Given the description of an element on the screen output the (x, y) to click on. 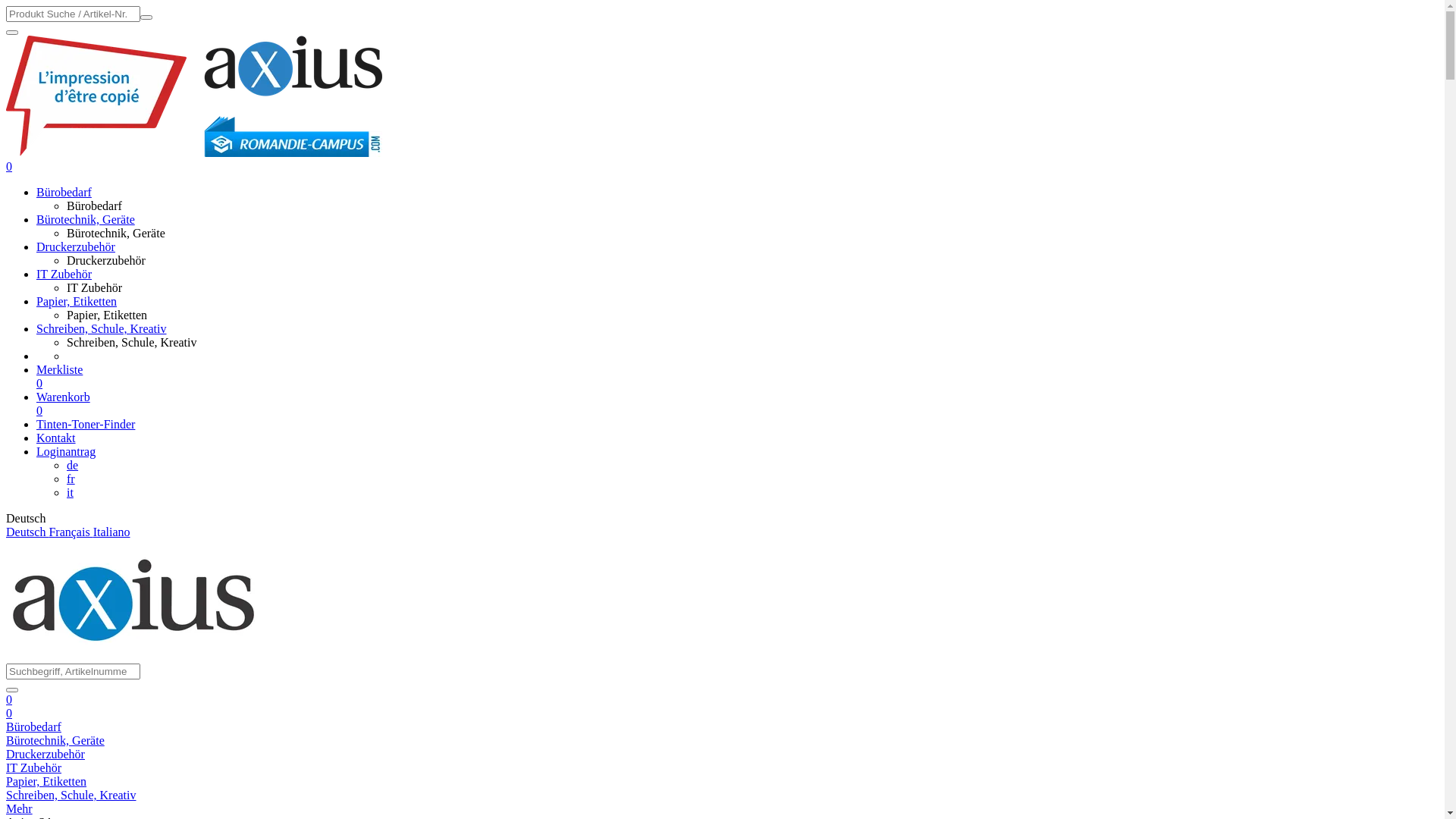
de Element type: text (72, 464)
0 Element type: text (9, 712)
0 Element type: text (9, 166)
Merkliste
0 Element type: text (737, 376)
Kontakt Element type: text (55, 437)
Schreiben, Schule, Kreativ Element type: text (131, 341)
Tinten-Toner-Finder Element type: text (85, 423)
Mehr Element type: text (19, 808)
Deutsch Element type: text (27, 531)
Italiano Element type: text (111, 531)
it Element type: text (69, 492)
Schreiben, Schule, Kreativ Element type: text (71, 794)
Papier, Etiketten Element type: text (106, 314)
fr Element type: text (70, 478)
Papier, Etiketten Element type: text (76, 300)
Loginantrag Element type: text (65, 451)
Schreiben, Schule, Kreativ Element type: text (101, 328)
Warenkorb
0 Element type: text (737, 403)
Papier, Etiketten Element type: text (46, 781)
0 Element type: text (9, 699)
